Given the description of an element on the screen output the (x, y) to click on. 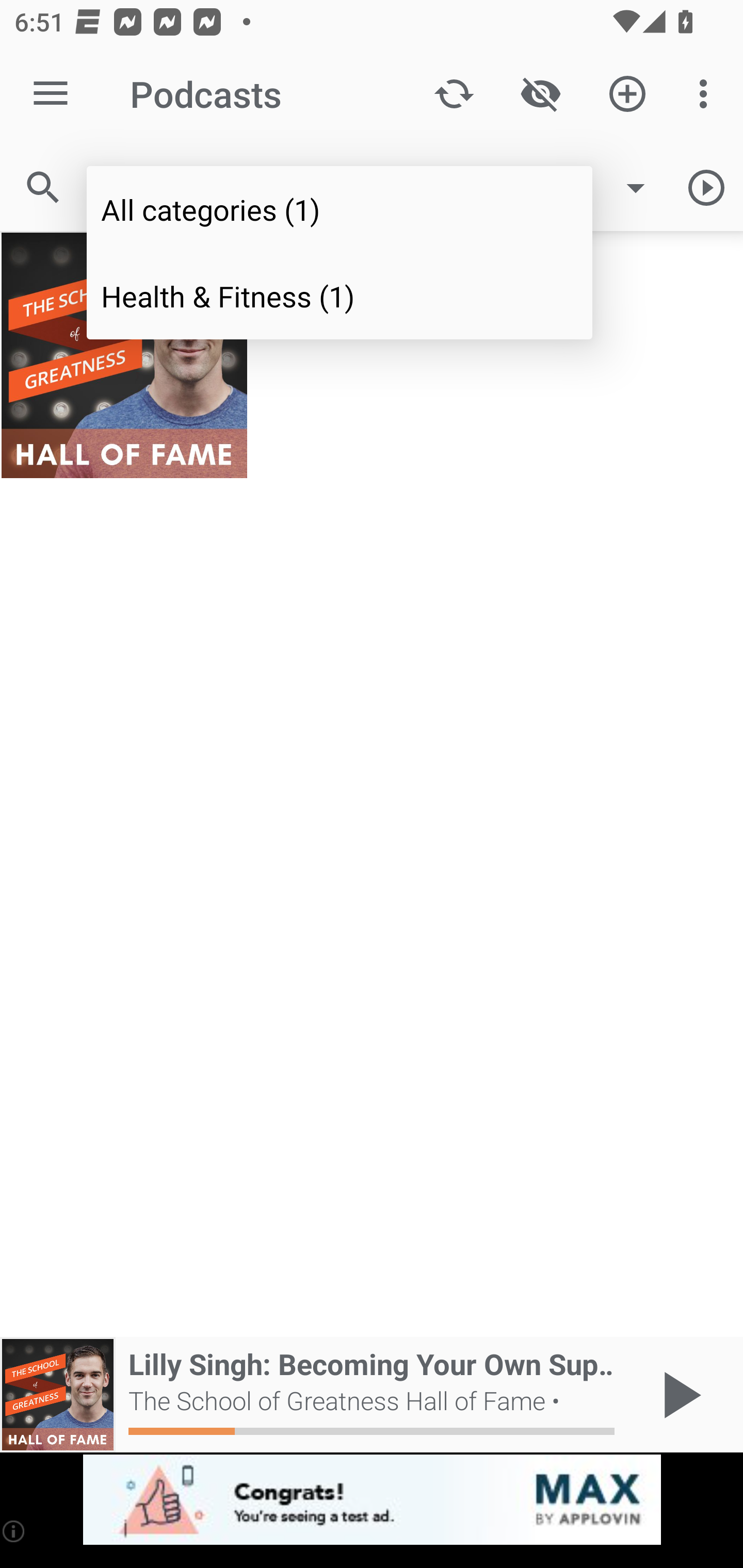
All categories (1) (339, 209)
Health & Fitness (1) (339, 295)
